Given the description of an element on the screen output the (x, y) to click on. 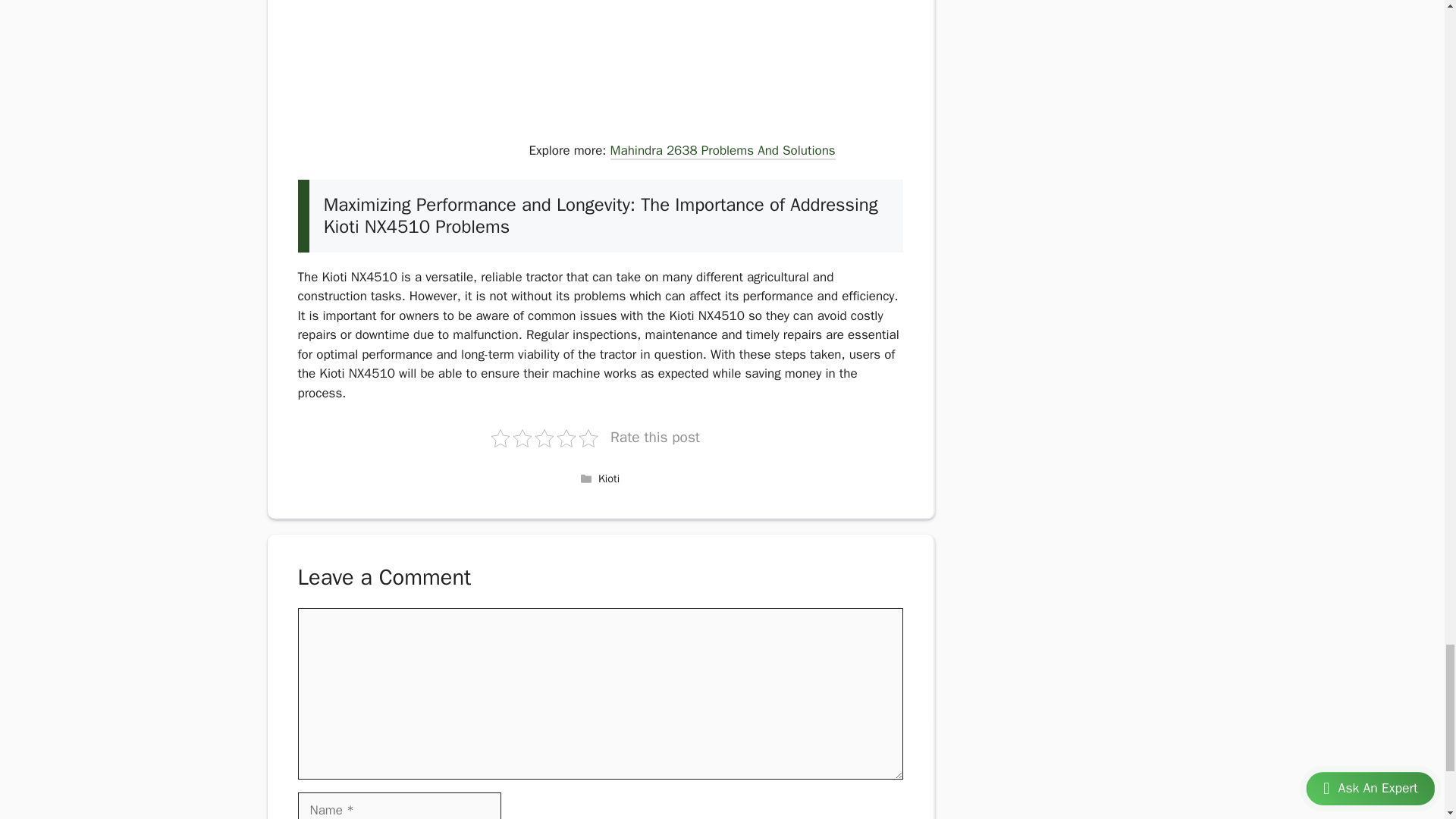
Kioti (609, 478)
kioti nx4510 problems 5 (410, 97)
Mahindra 2638 Problems And Solutions (722, 151)
